Given the description of an element on the screen output the (x, y) to click on. 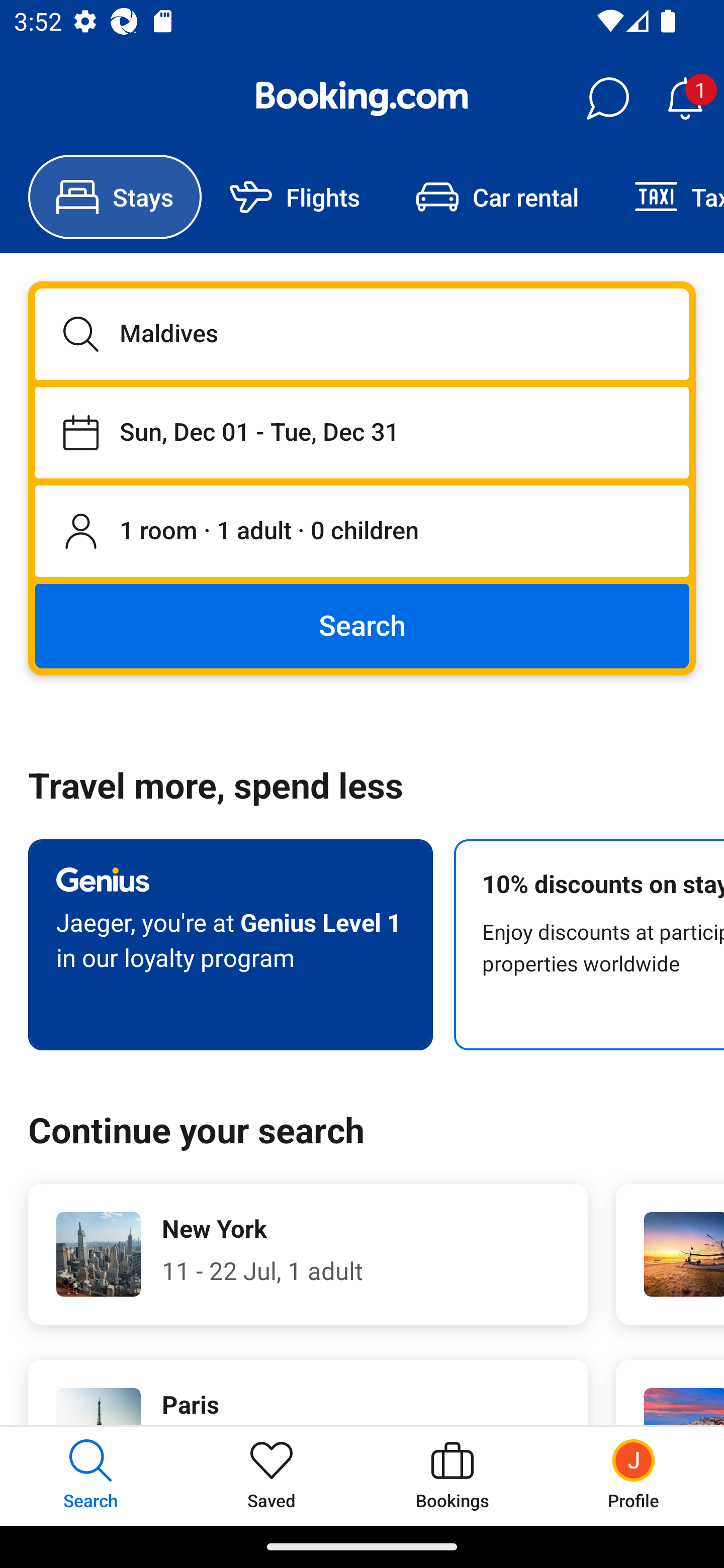
Messages (607, 98)
Notifications (685, 98)
Stays (114, 197)
Flights (294, 197)
Car rental (497, 197)
Taxi (665, 197)
Maldives (361, 333)
Staying from Sun, Dec 01 until Tue, Dec 31 (361, 432)
1 room, 1 adult, 0 children (361, 531)
Search (361, 625)
New York 11 - 22 Jul, 1 adult (307, 1253)
Saved (271, 1475)
Bookings (452, 1475)
Profile (633, 1475)
